Given the description of an element on the screen output the (x, y) to click on. 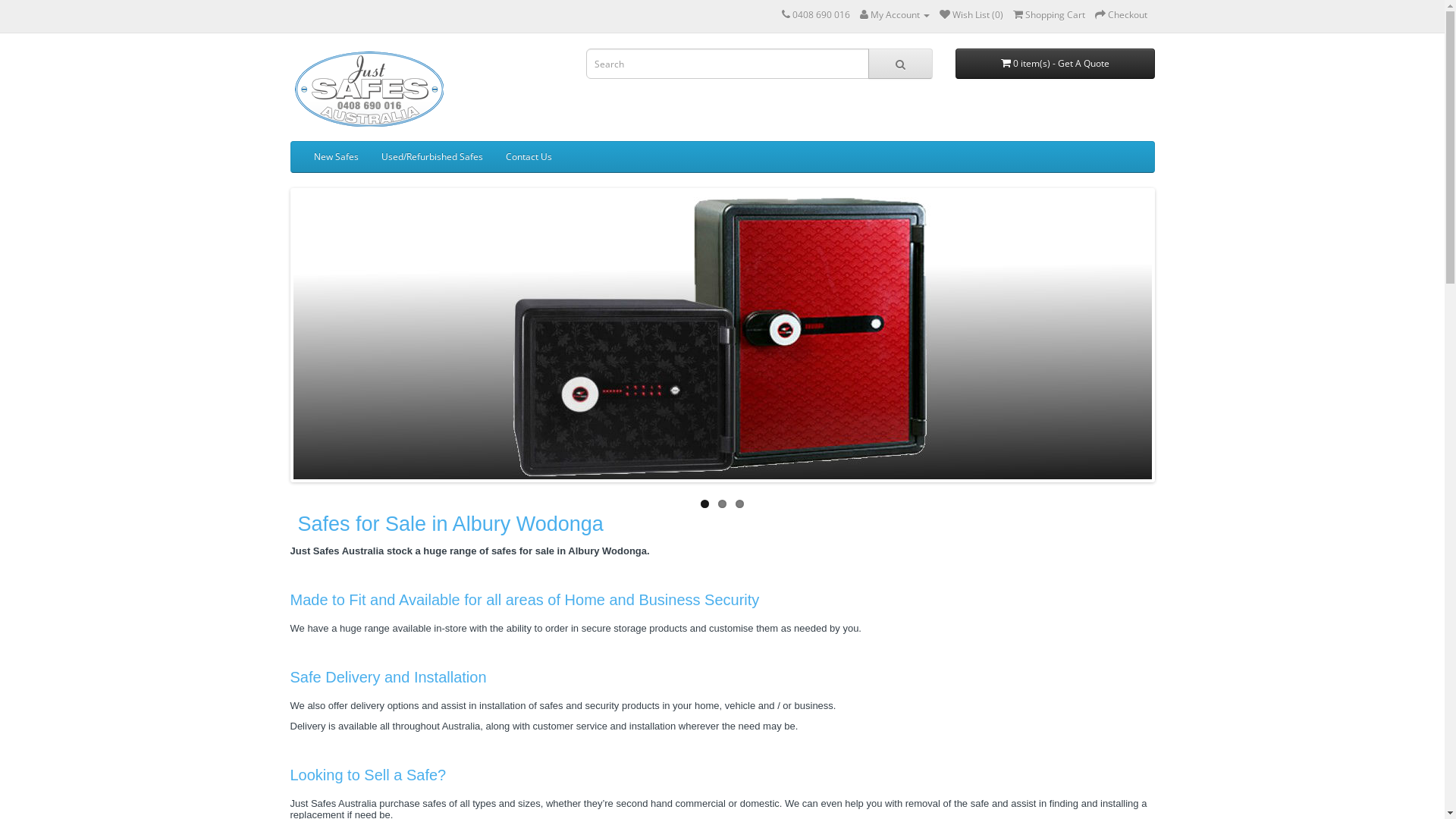
My Account Element type: text (894, 14)
New Safes Element type: text (335, 156)
Just Safes Australia Element type: hover (367, 90)
Checkout Element type: text (1121, 14)
Shopping Cart Element type: text (1049, 14)
Used/Refurbished Safes Element type: text (432, 156)
Contact Us Element type: text (528, 156)
Wish List (0) Element type: text (970, 14)
0 item(s) - Get A Quote Element type: text (1054, 63)
